Given the description of an element on the screen output the (x, y) to click on. 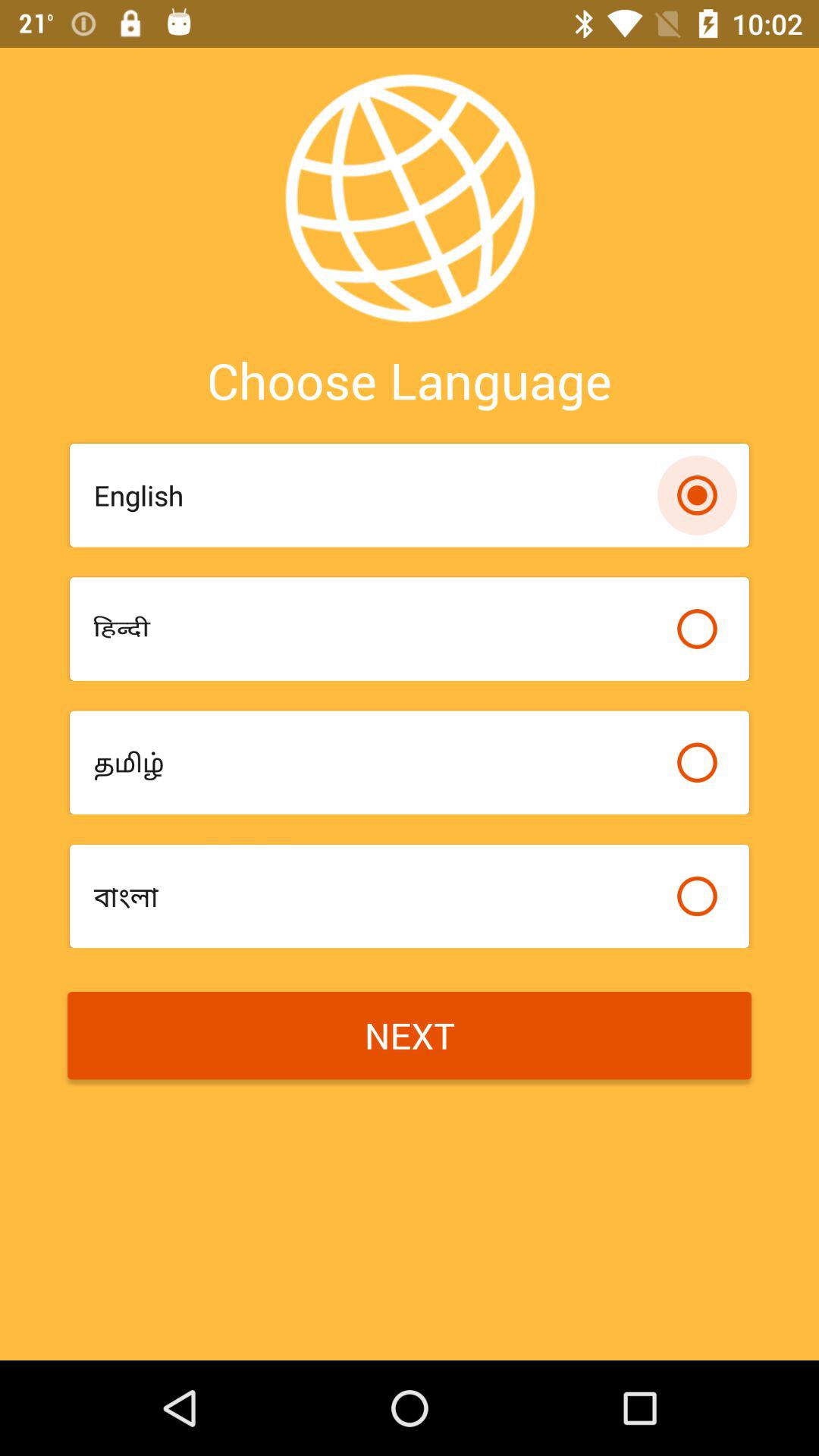
swipe until the next (409, 1035)
